Given the description of an element on the screen output the (x, y) to click on. 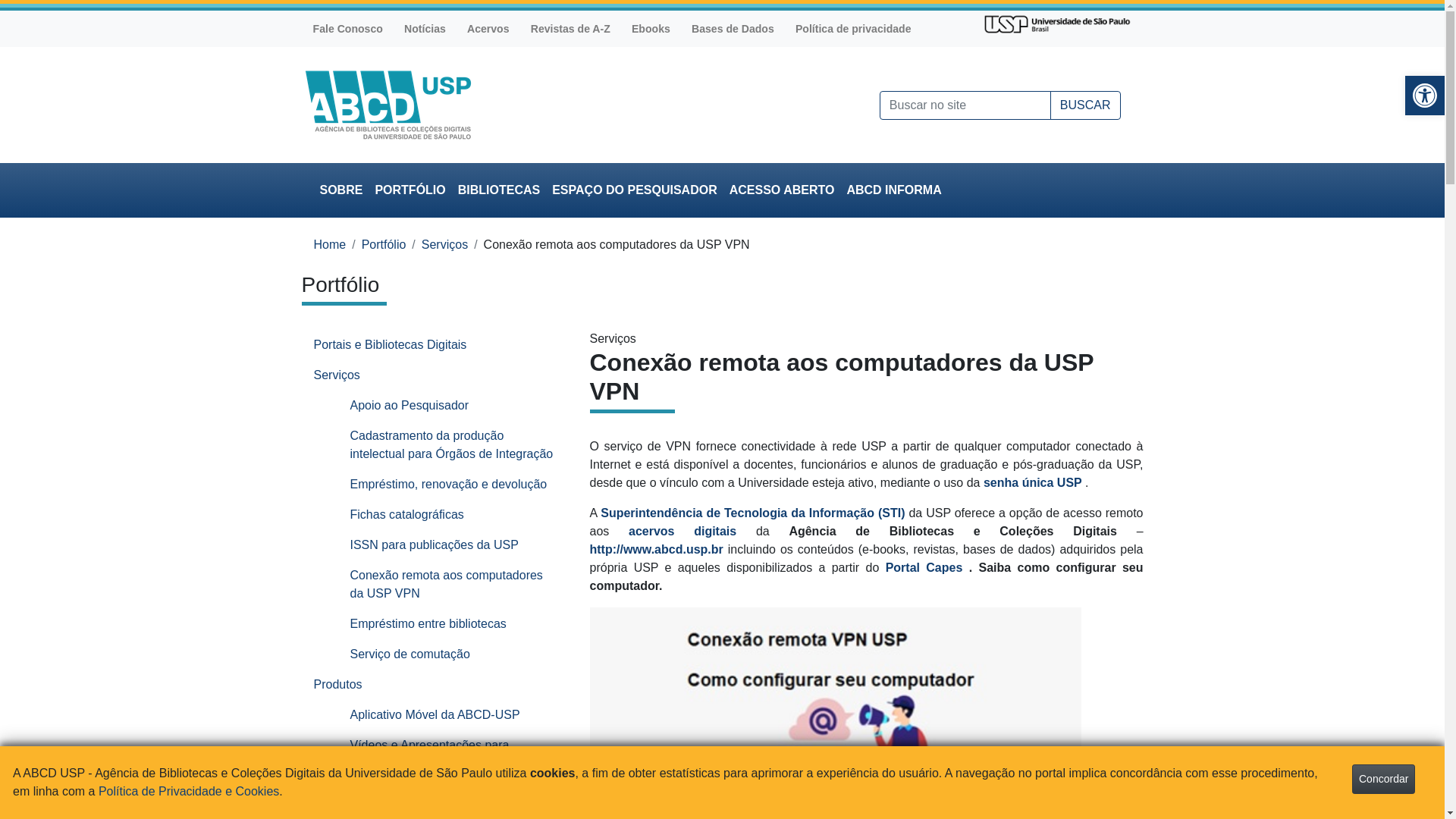
ABCD INFORMA Element type: text (893, 190)
ACESSO ABERTO Element type: text (781, 190)
Concordar Element type: text (1383, 778)
Barra de Ferramentas Aberta
Ferramentas de Acessibilidade Element type: text (1424, 95)
BIBLIOTECAS Element type: text (498, 190)
SOBRE Element type: text (341, 190)
Home Element type: text (329, 244)
Apoio ao Pesquisador Element type: text (452, 405)
Revistas de A-Z Element type: text (570, 28)
acervos digitais Element type: text (682, 530)
Ebooks Element type: text (650, 28)
Concordar Element type: text (1383, 778)
Portal Capes Element type: text (927, 567)
Produtos Element type: text (434, 684)
Bases de Dados Element type: text (732, 28)
Acervos Element type: text (488, 28)
BUSCAR Element type: text (1085, 105)
http://www.abcd.usp.br Element type: text (656, 548)
Fale Conosco Element type: text (346, 28)
Portais e Bibliotecas Digitais Element type: text (434, 344)
